Given the description of an element on the screen output the (x, y) to click on. 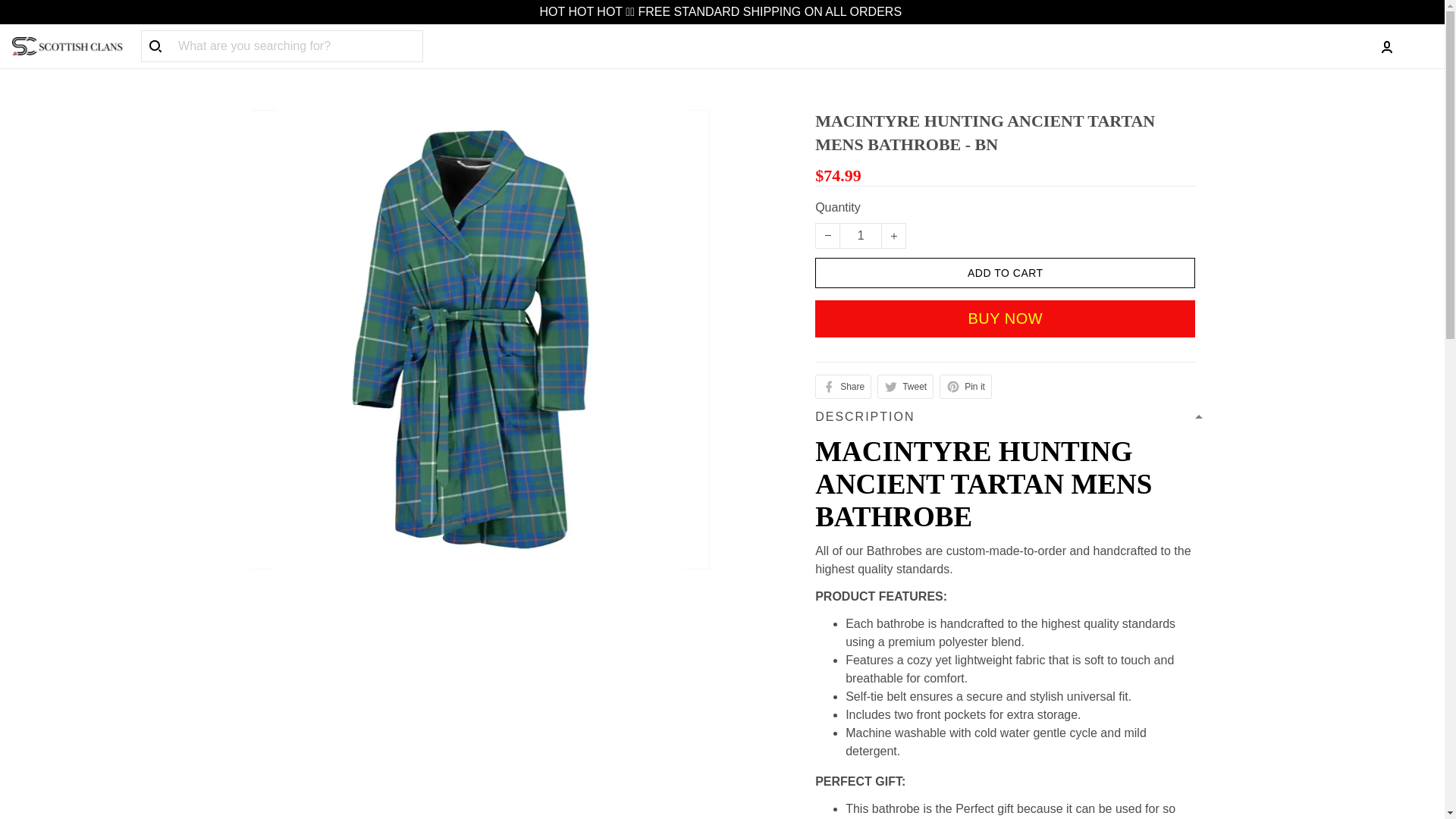
Share (842, 386)
Pin on Pinterest (965, 386)
Share on Facebook (842, 386)
Pin it (965, 386)
Share on Twitter (905, 386)
Tweet (905, 386)
ADD TO CART (1005, 272)
1 (860, 235)
BUY NOW (1005, 318)
